Given the description of an element on the screen output the (x, y) to click on. 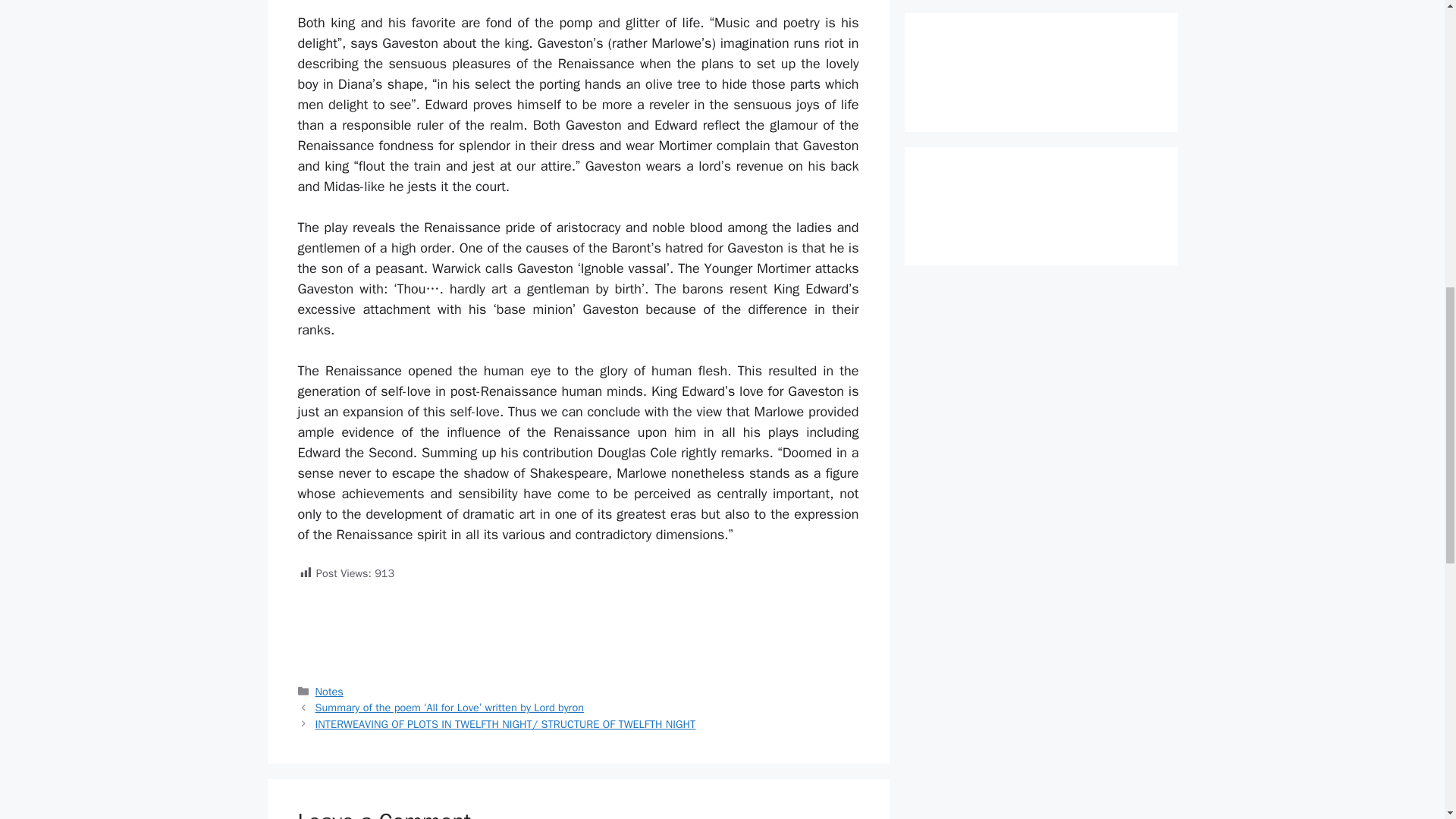
Notes (329, 691)
